Given the description of an element on the screen output the (x, y) to click on. 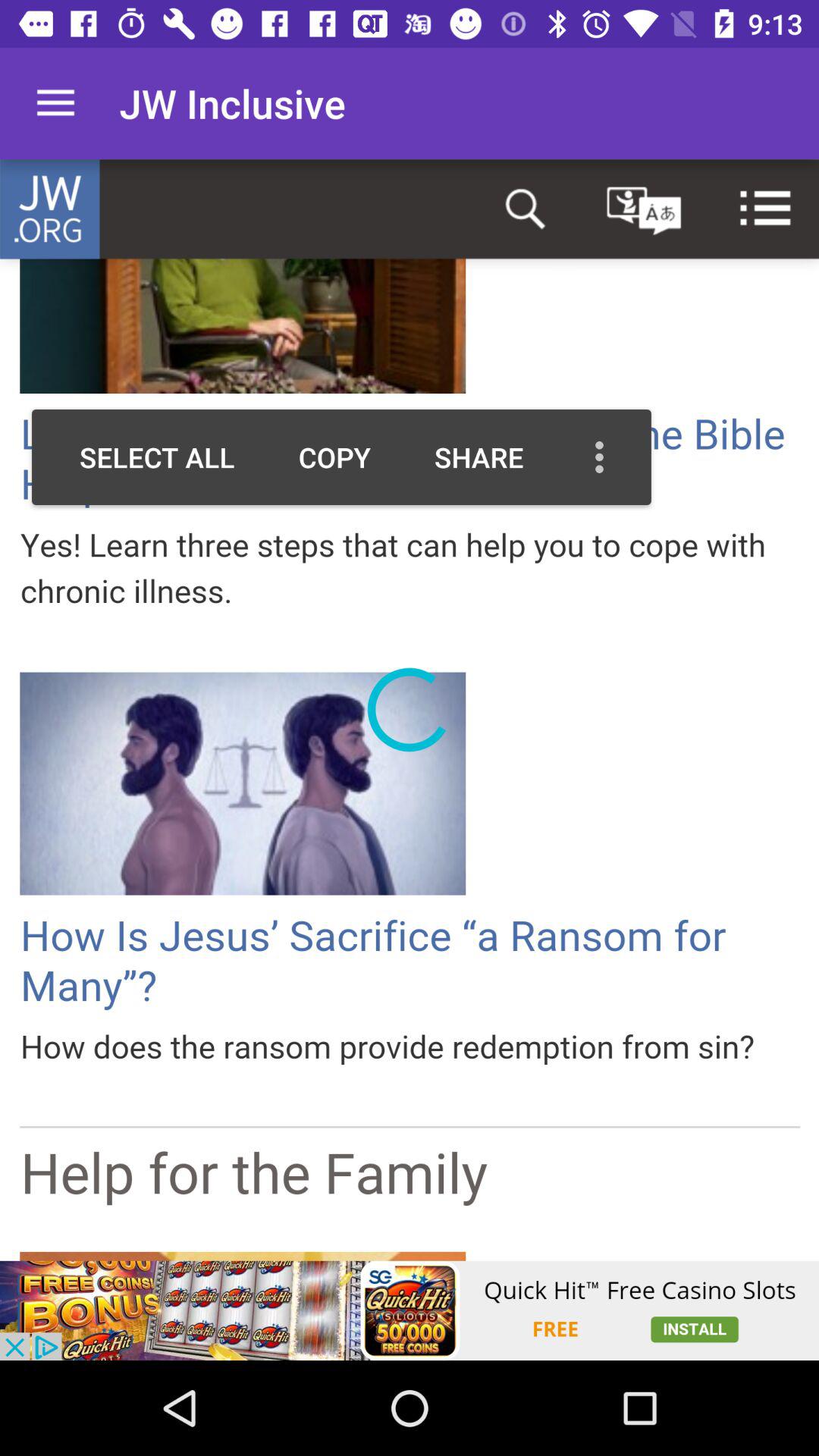
advertisement (409, 1310)
